Given the description of an element on the screen output the (x, y) to click on. 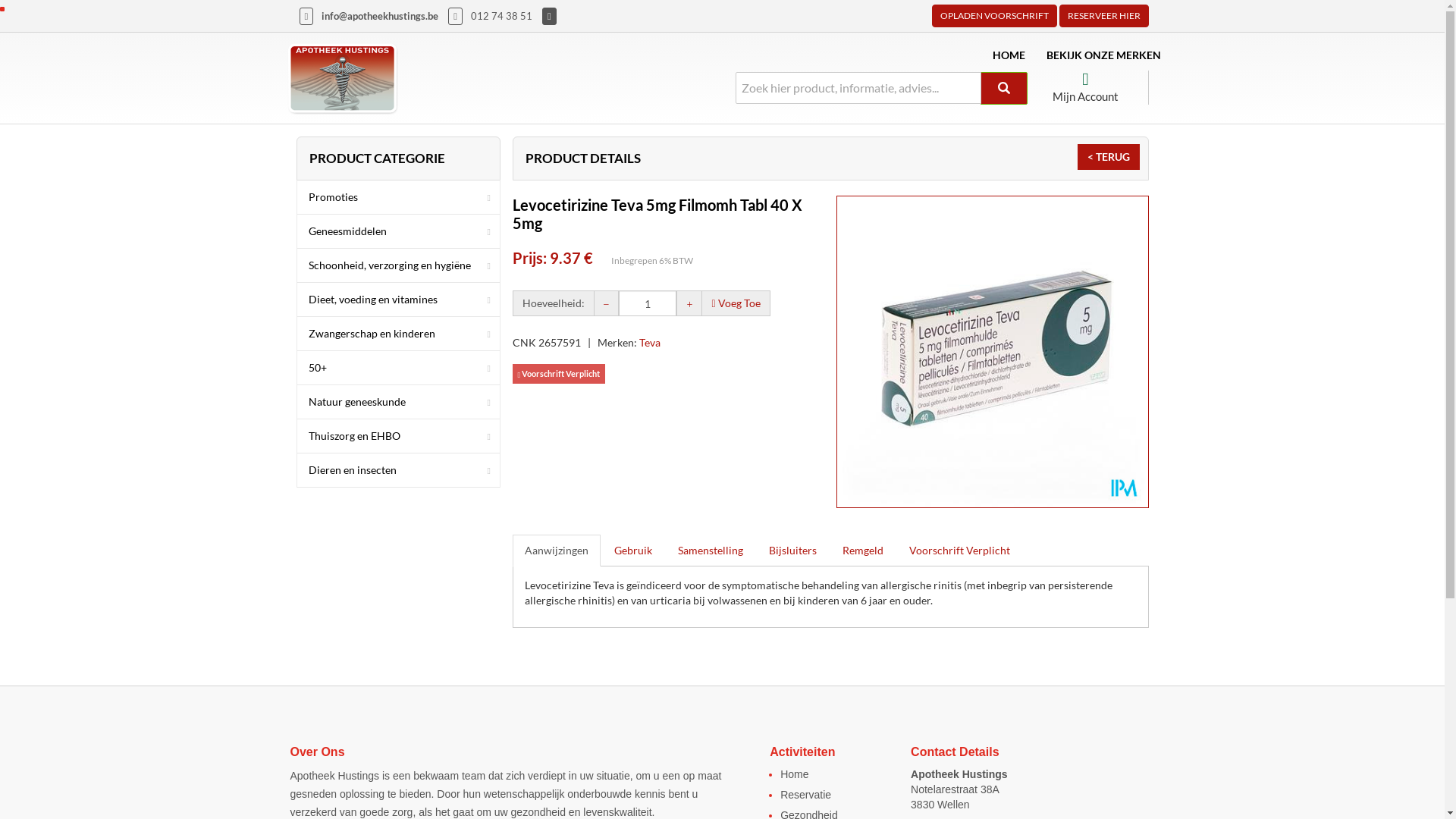
HOME Element type: text (1008, 54)
< TERUG Element type: text (1107, 156)
Thuiszorg en EHBO Element type: text (398, 435)
50+ Element type: text (398, 367)
Natuur geneeskunde Element type: text (398, 401)
Voeg Toe Element type: text (735, 301)
Voorschrift Verplicht Element type: text (958, 549)
Teva Element type: text (648, 341)
RESERVEER HIER Element type: text (1103, 15)
Dieren en insecten Element type: text (398, 469)
OPLADEN VOORSCHRIFT Element type: text (993, 15)
Zwangerschap en kinderen Element type: text (398, 333)
Remgeld Element type: text (861, 549)
Aanwijzingen Element type: text (556, 549)
BEKIJK ONZE MERKEN Element type: text (1103, 54)
Gebruik Element type: text (633, 549)
info@apotheekhustings.be Element type: text (379, 15)
Dieet, voeding en vitamines Element type: text (398, 299)
Samenstelling Element type: text (710, 549)
Bijsluiters Element type: text (792, 549)
Geneesmiddelen Element type: text (398, 230)
Reservatie Element type: text (805, 794)
Home Element type: text (794, 774)
Promoties Element type: text (398, 196)
